Given the description of an element on the screen output the (x, y) to click on. 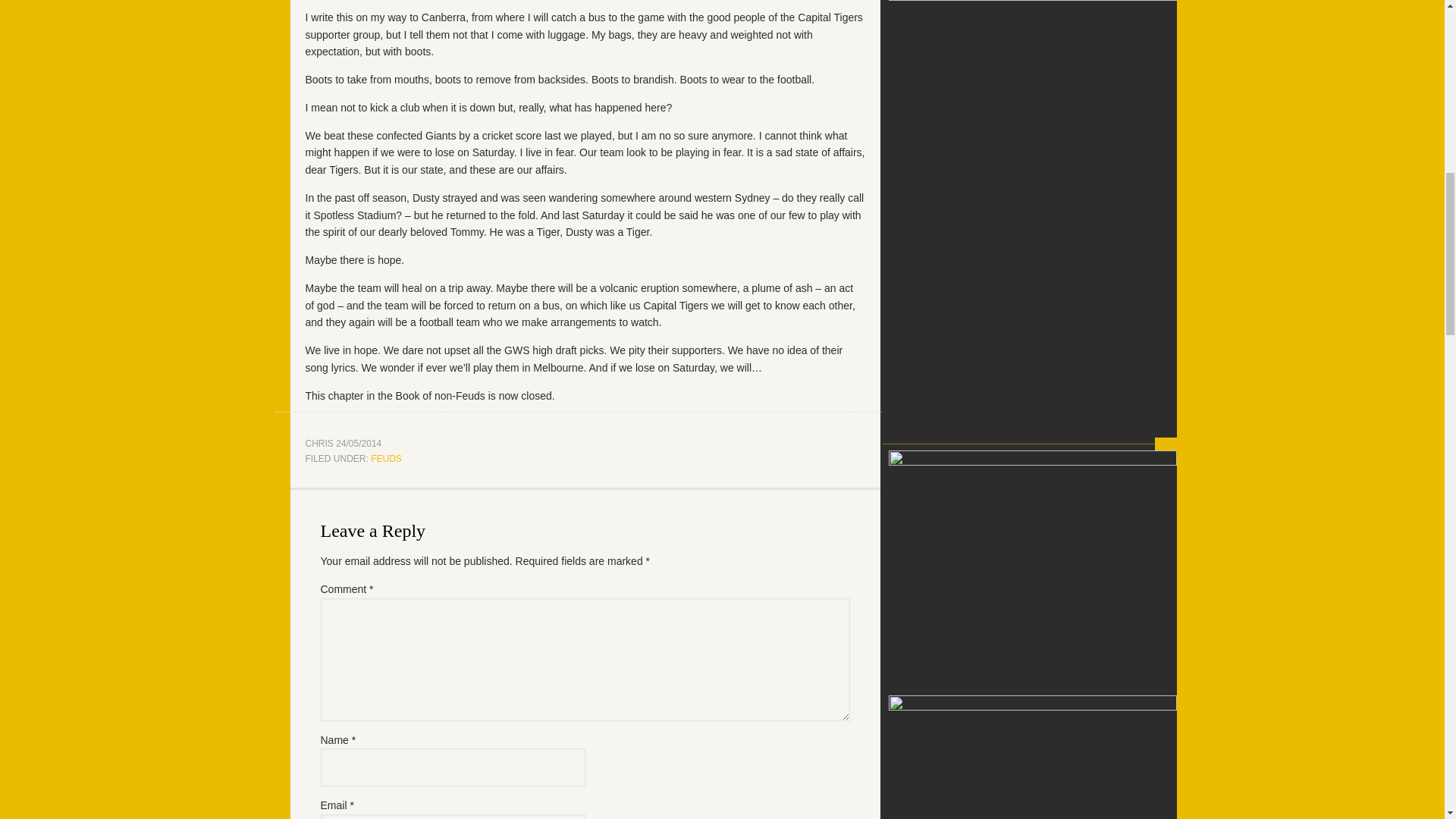
FEUDS (386, 458)
